Given the description of an element on the screen output the (x, y) to click on. 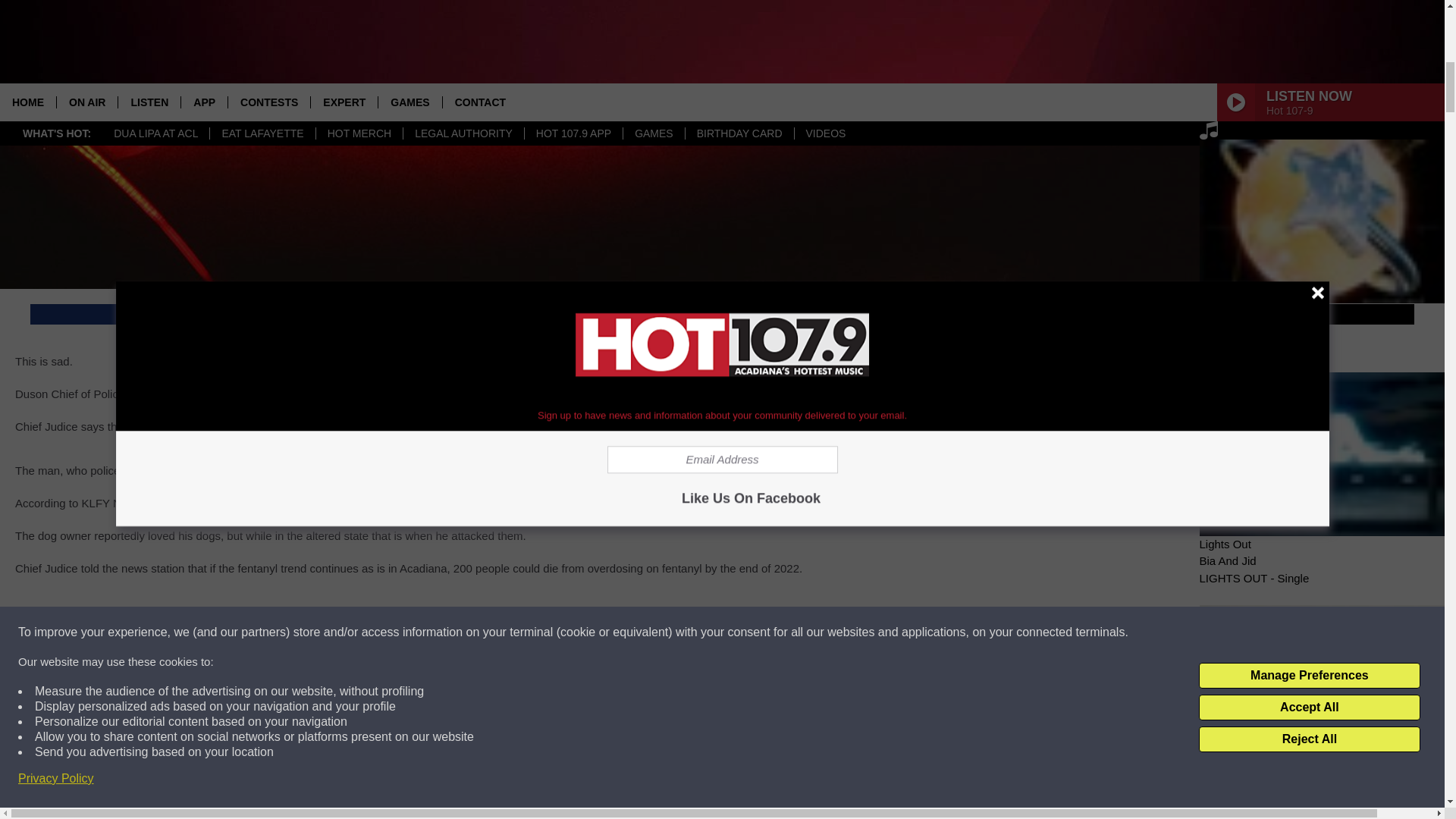
SEARCH (1336, 515)
Share on Facebook (374, 313)
Share on Twitter (1070, 313)
SEARCH (1336, 515)
